Given the description of an element on the screen output the (x, y) to click on. 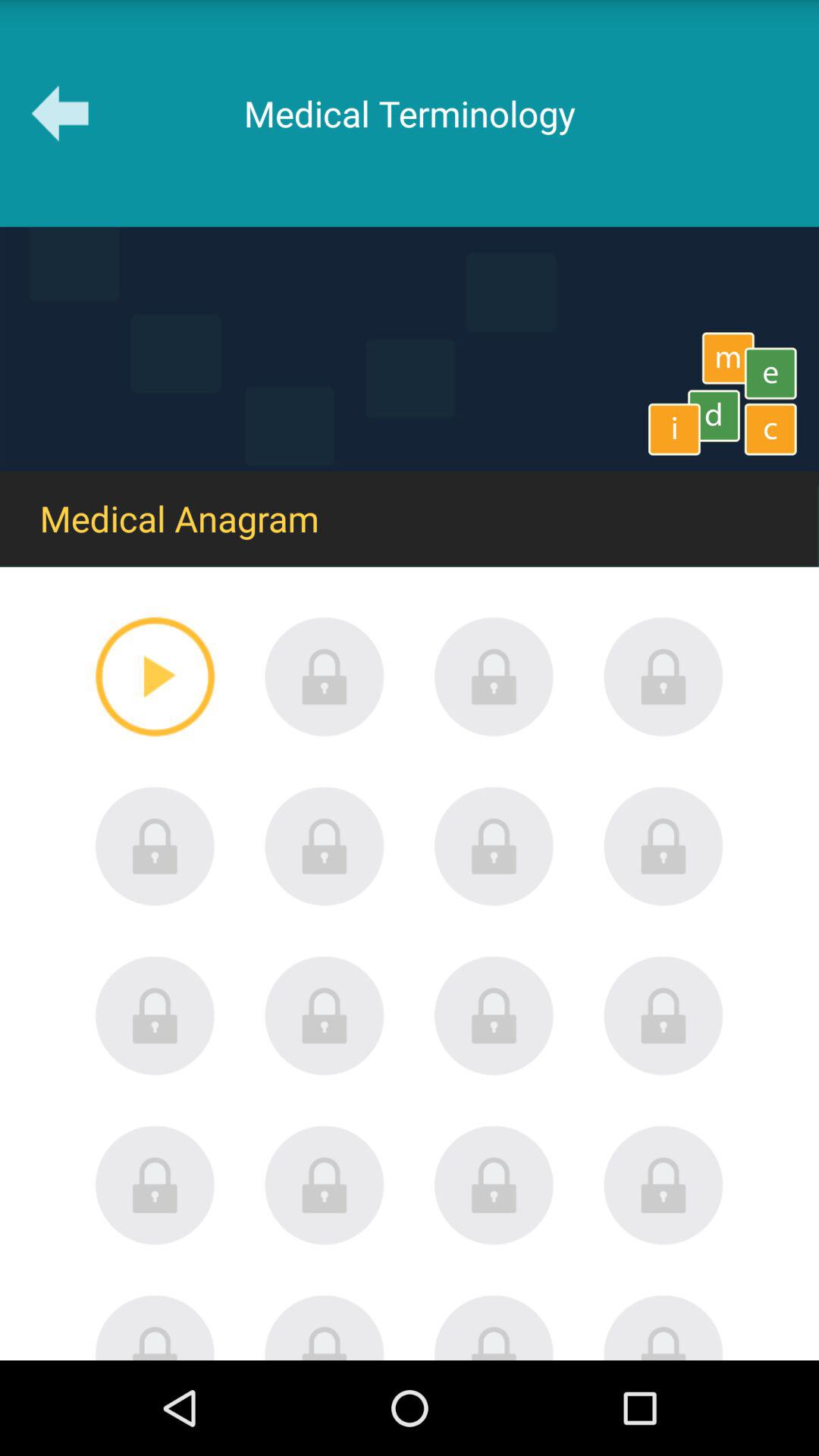
option blocked (324, 846)
